Given the description of an element on the screen output the (x, y) to click on. 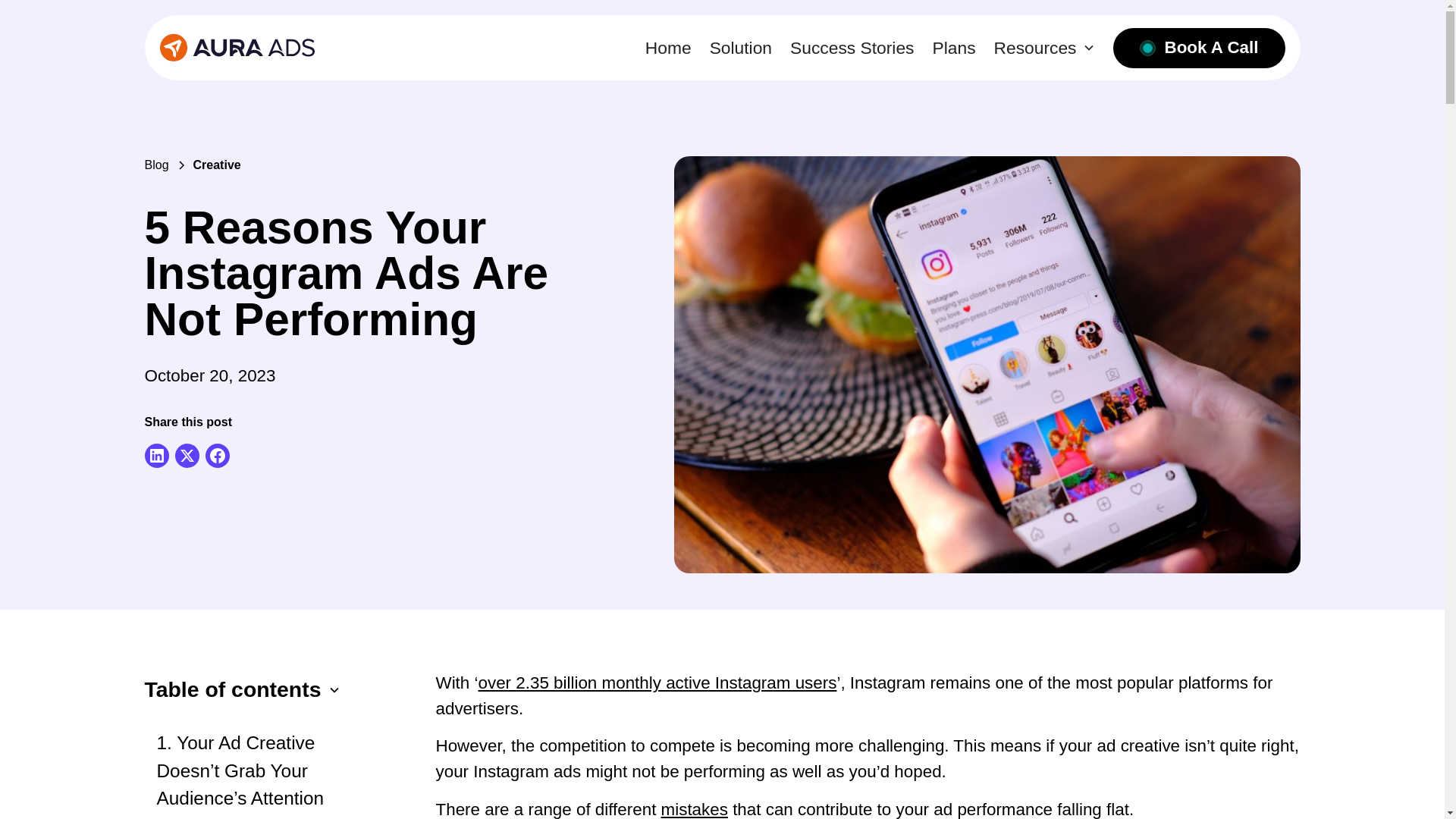
Plans (954, 47)
Home (668, 47)
Book A Call (1199, 47)
Solution (740, 47)
Success Stories (852, 47)
mistakes (694, 809)
Blog (156, 165)
over 2.35 billion monthly active Instagram users (656, 682)
Creative (217, 165)
